Given the description of an element on the screen output the (x, y) to click on. 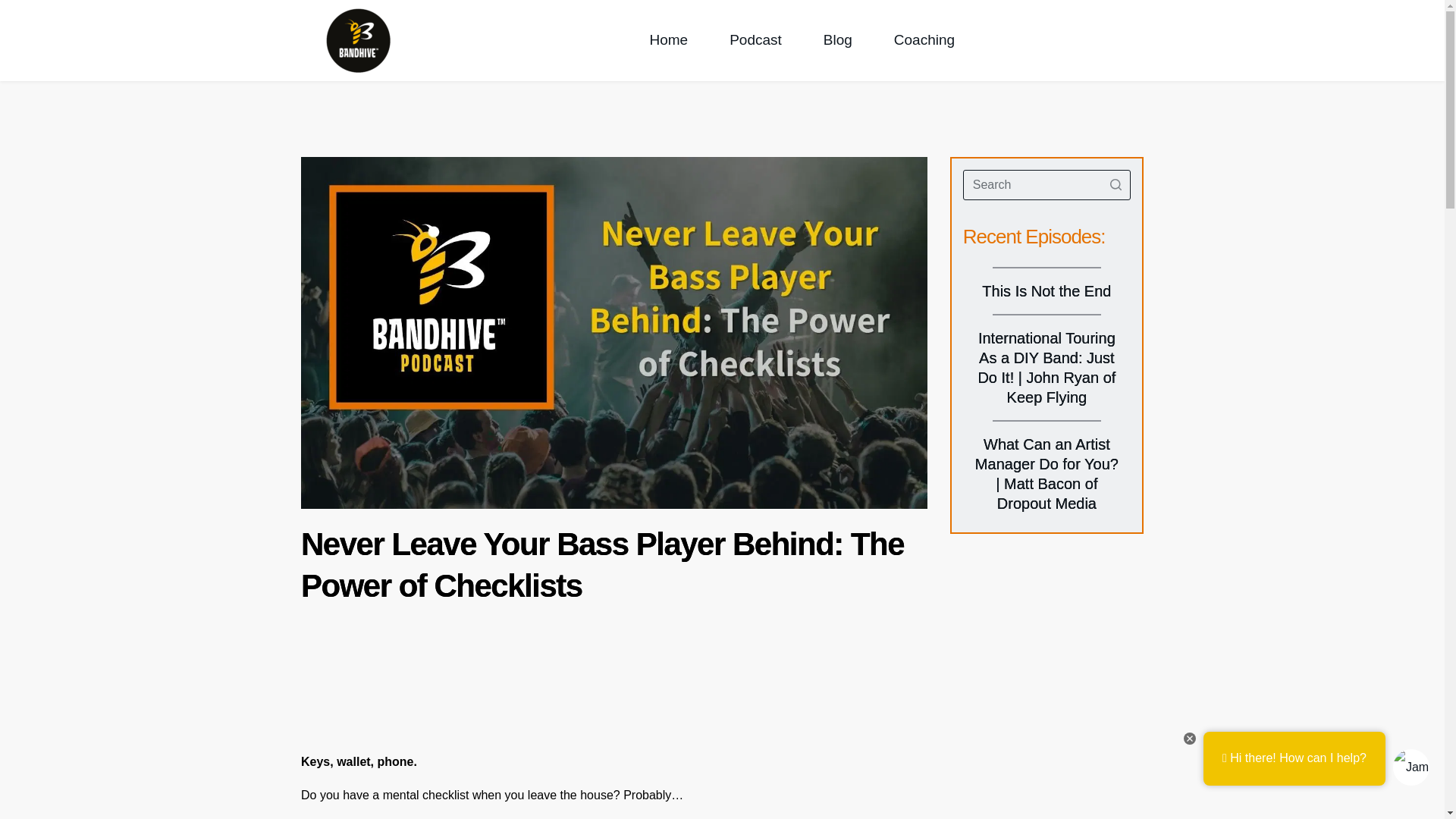
Home (668, 39)
This Is Not the End (1045, 290)
Search for... (1046, 184)
Blog (837, 39)
Coaching (923, 39)
Podcast (755, 39)
